Given the description of an element on the screen output the (x, y) to click on. 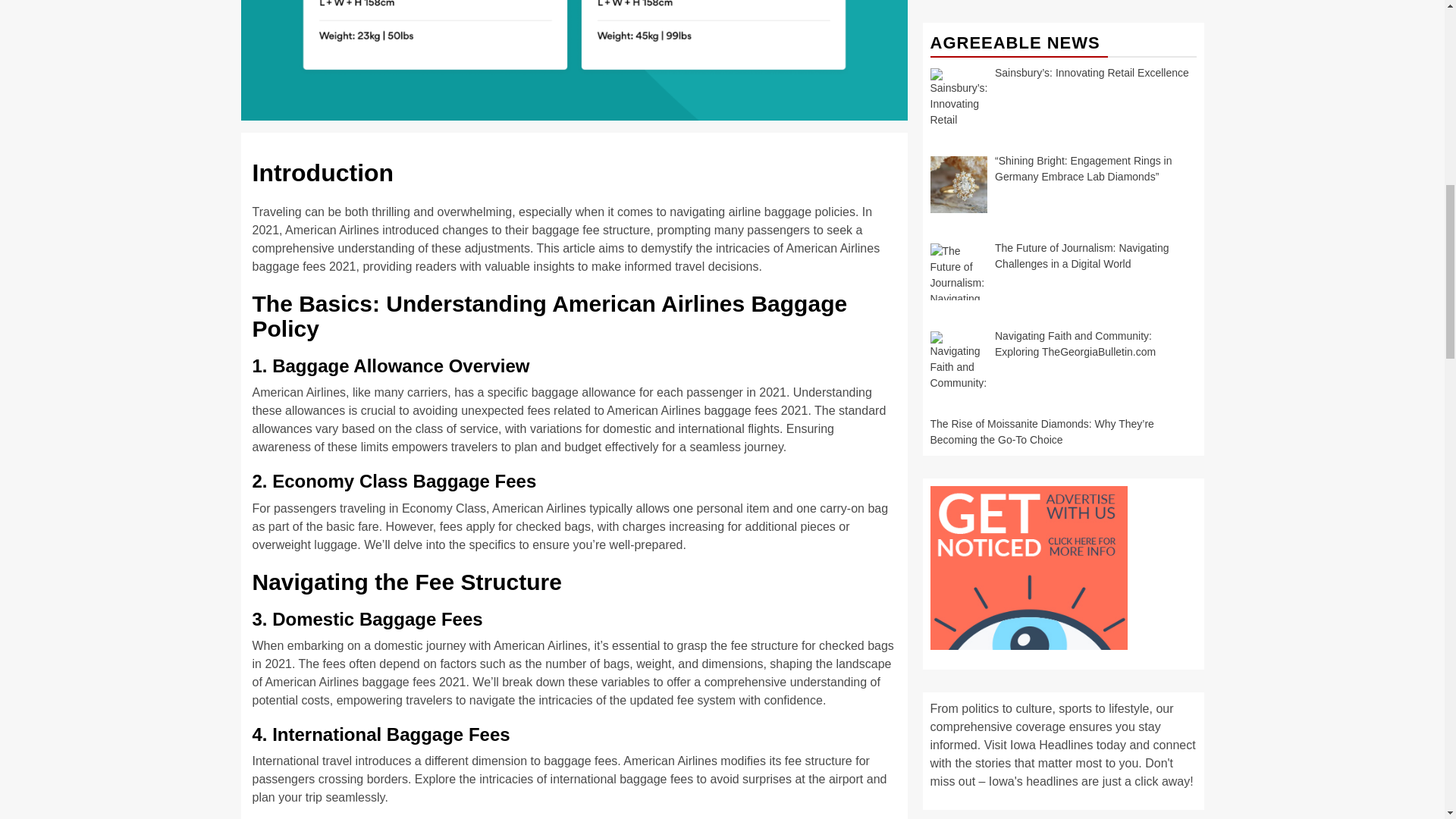
american airlines baggage fees 2021 (574, 60)
